Given the description of an element on the screen output the (x, y) to click on. 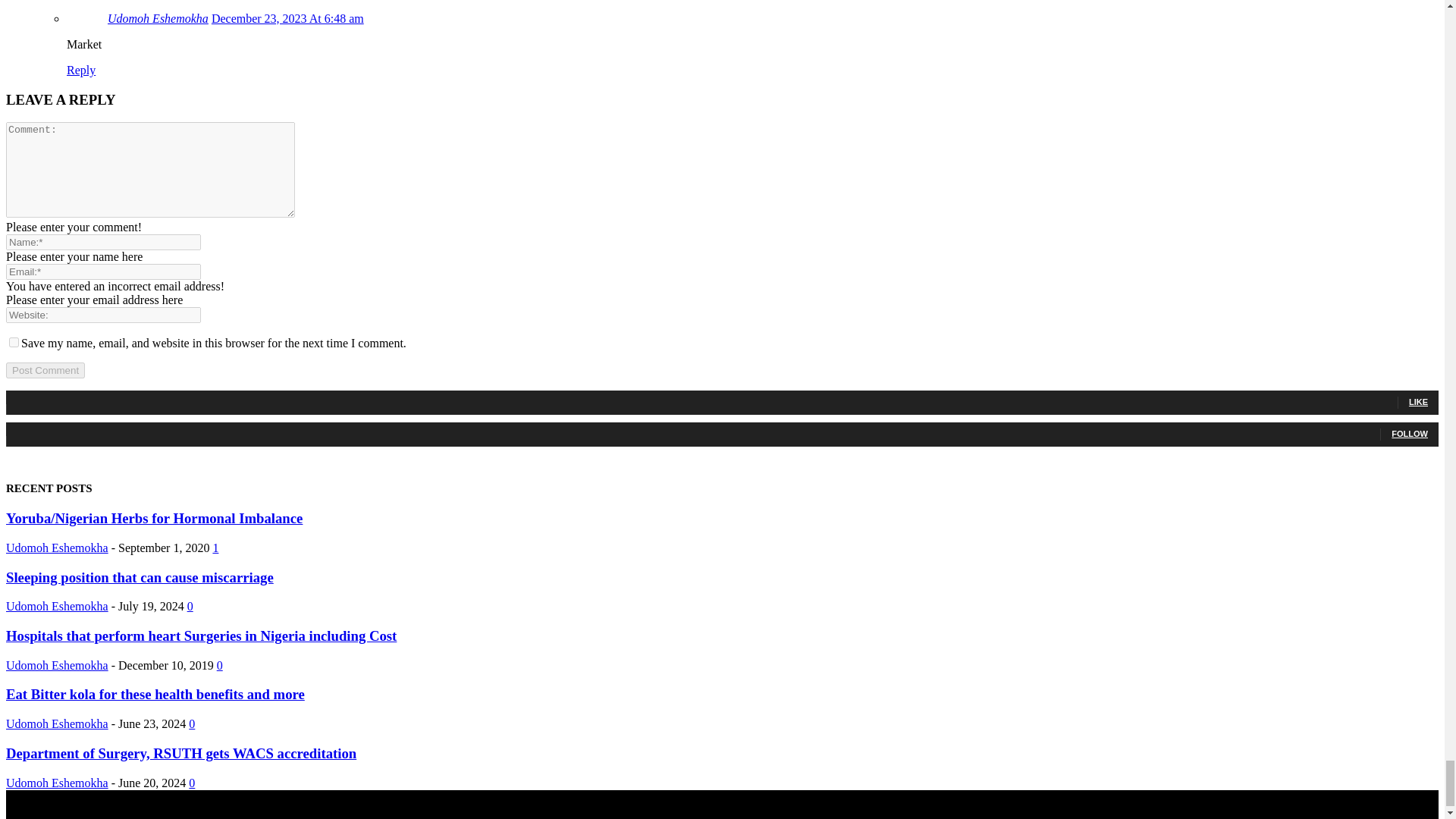
yes (13, 342)
Post Comment (44, 370)
